Given the description of an element on the screen output the (x, y) to click on. 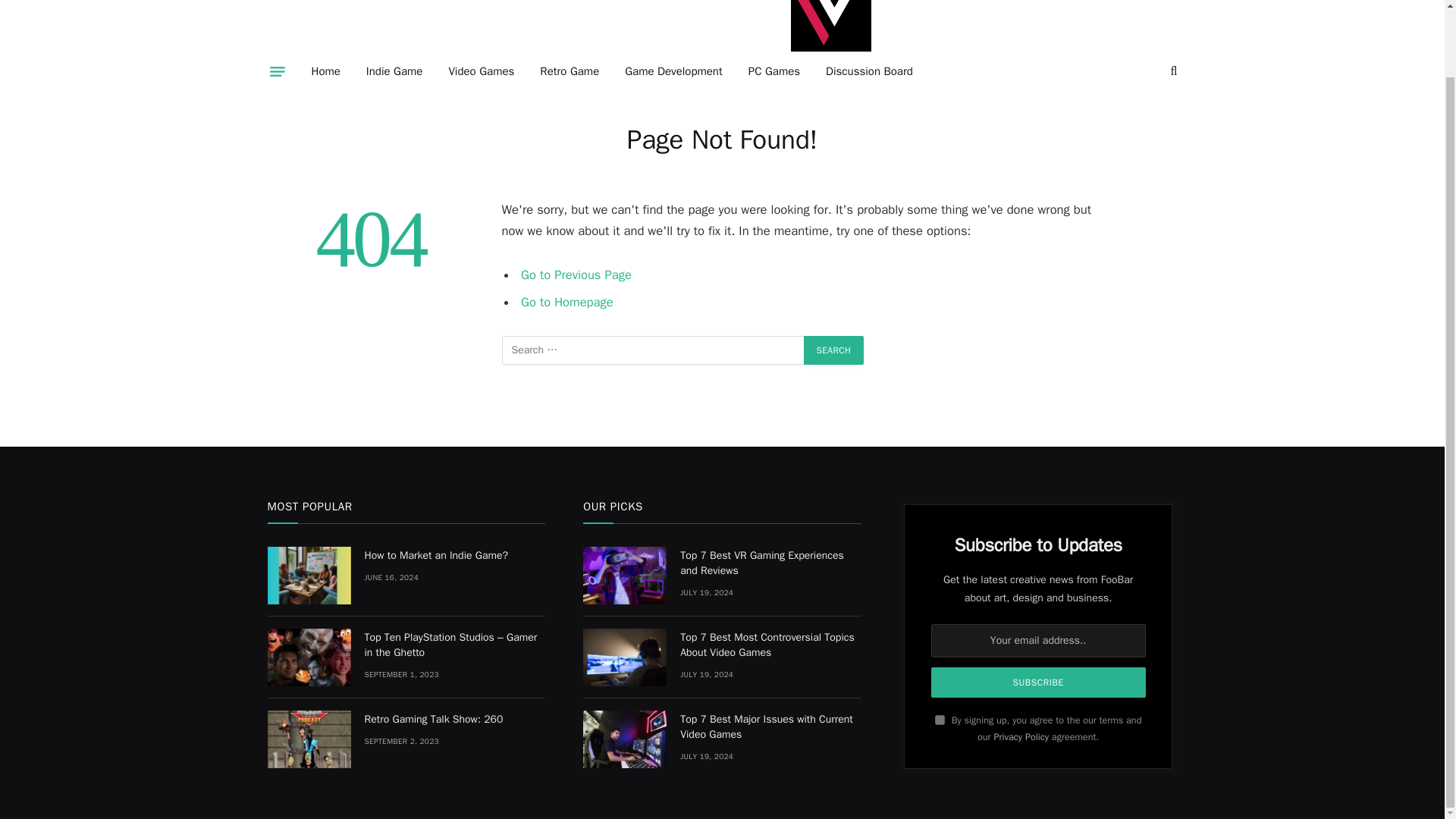
Retro Gaming Talk Show: 260 (308, 739)
Top 7 Best Major Issues with Current Video Games (624, 739)
How to Market an Indie Game? (454, 555)
How to Market an Indie Game? (308, 575)
on (939, 719)
Home (325, 70)
Retro Game (569, 70)
Top 7 Best VR Gaming Experiences and Reviews (624, 575)
Indie Game (394, 70)
Search (833, 349)
Discussion Board (869, 70)
Search (833, 349)
Video Games (481, 70)
PC Games (773, 70)
